Given the description of an element on the screen output the (x, y) to click on. 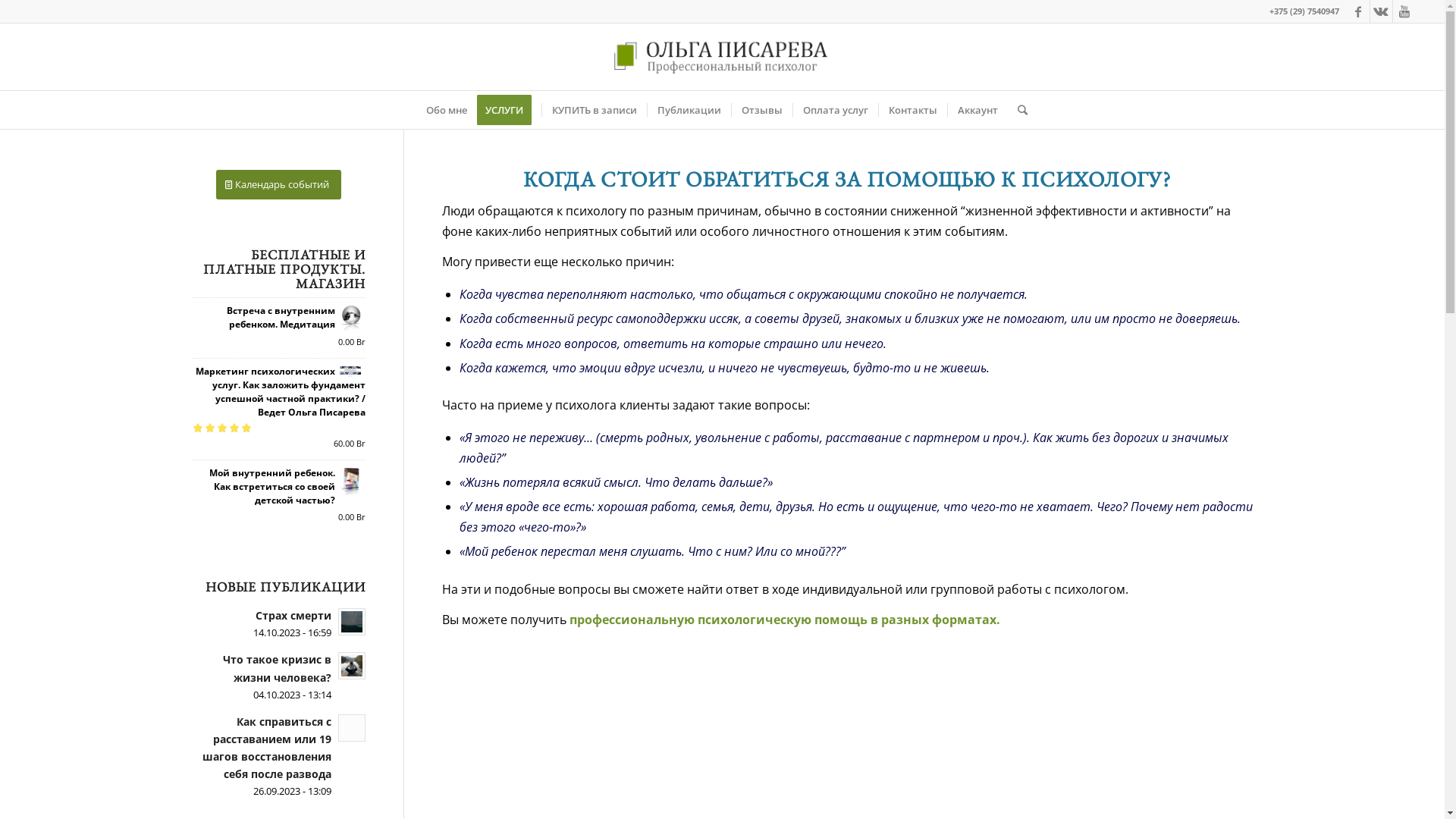
Facebook Element type: hover (1358, 11)
Youtube Element type: hover (1404, 11)
Vk Element type: hover (1381, 11)
